Given the description of an element on the screen output the (x, y) to click on. 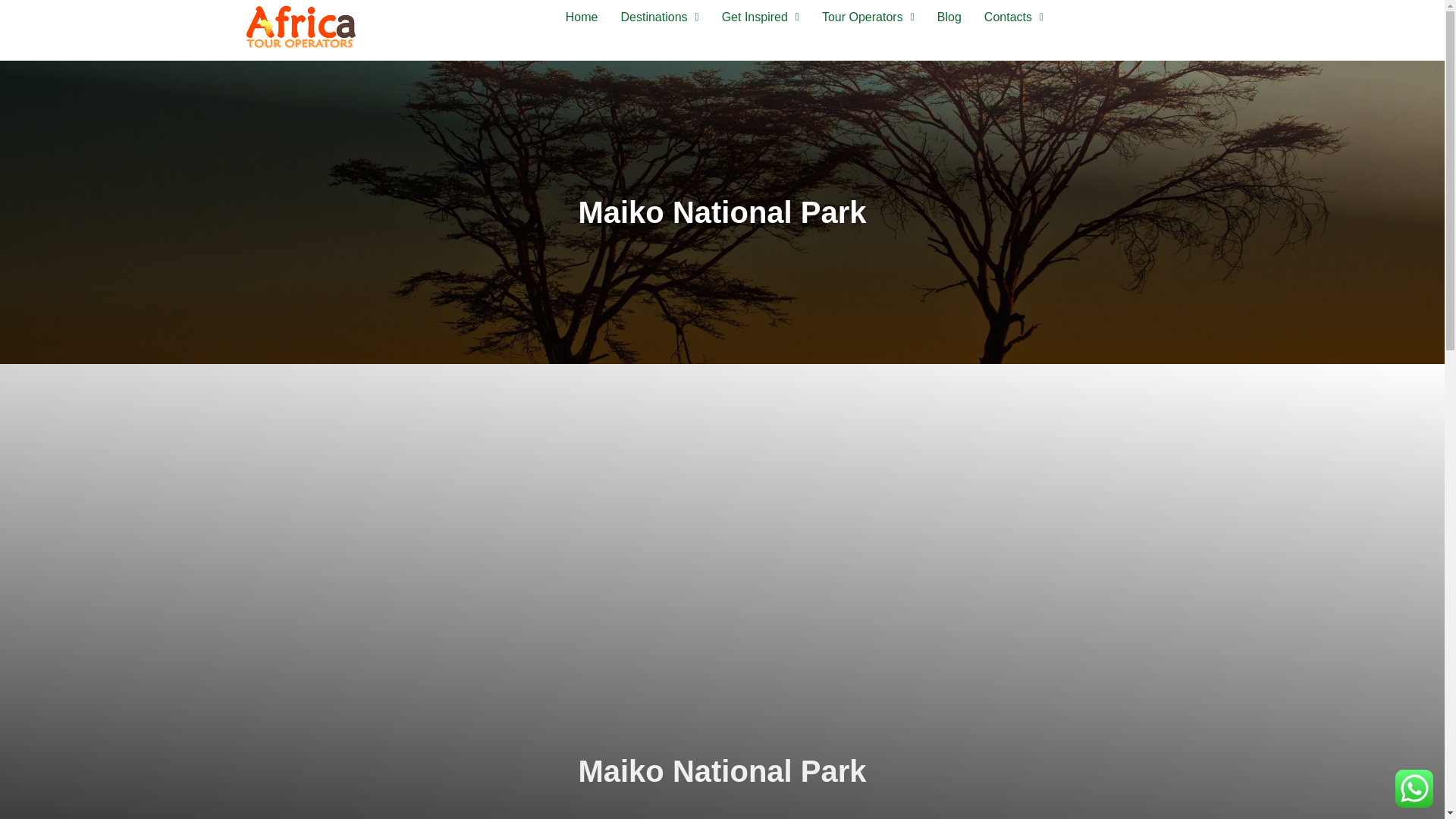
Home (582, 17)
Destinations (660, 17)
